Given the description of an element on the screen output the (x, y) to click on. 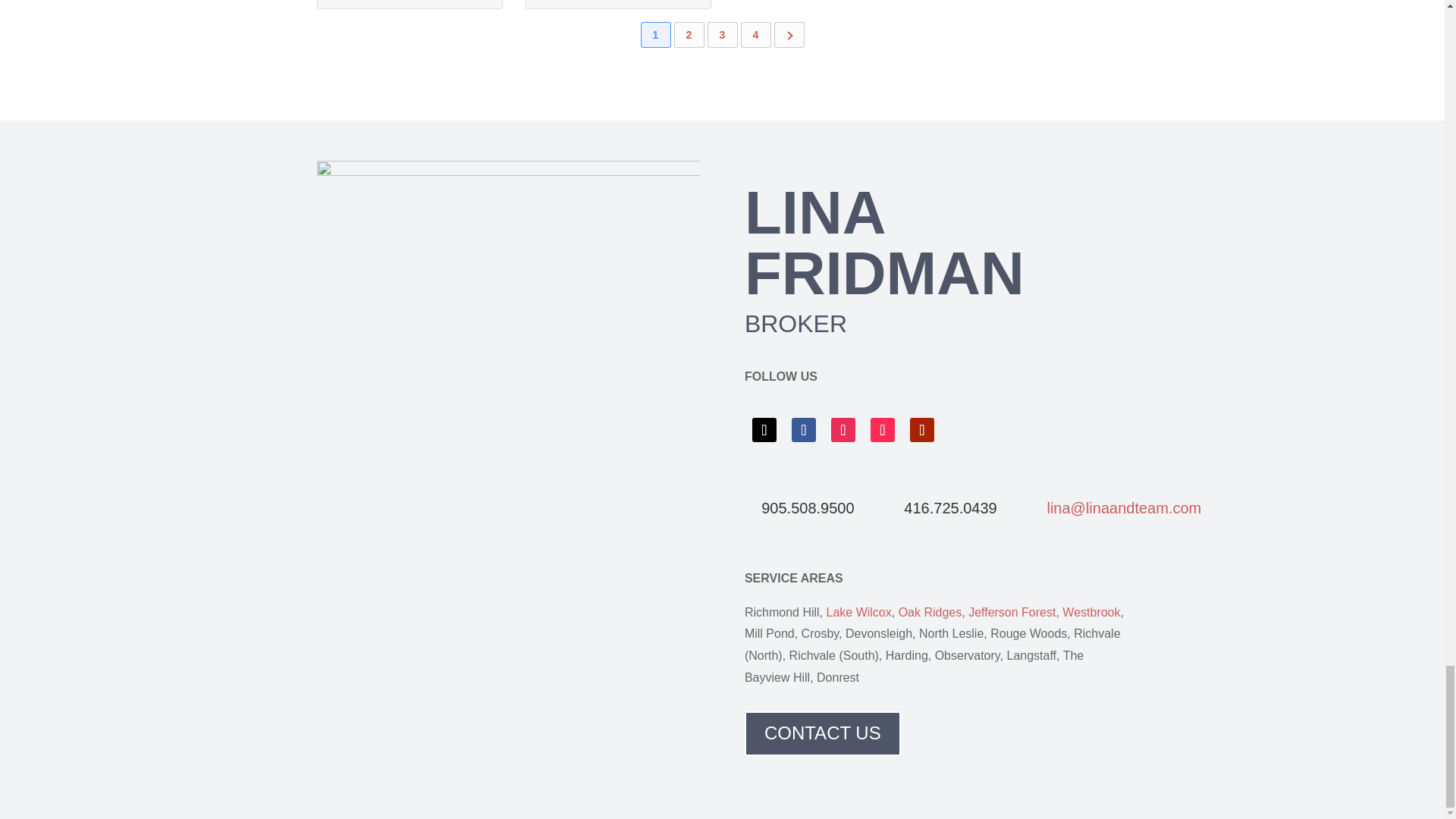
Follow on TikTok (882, 429)
Follow on X (764, 429)
Follow on Youtube (922, 429)
Follow on Facebook (803, 429)
Follow on Instagram (843, 429)
